Given the description of an element on the screen output the (x, y) to click on. 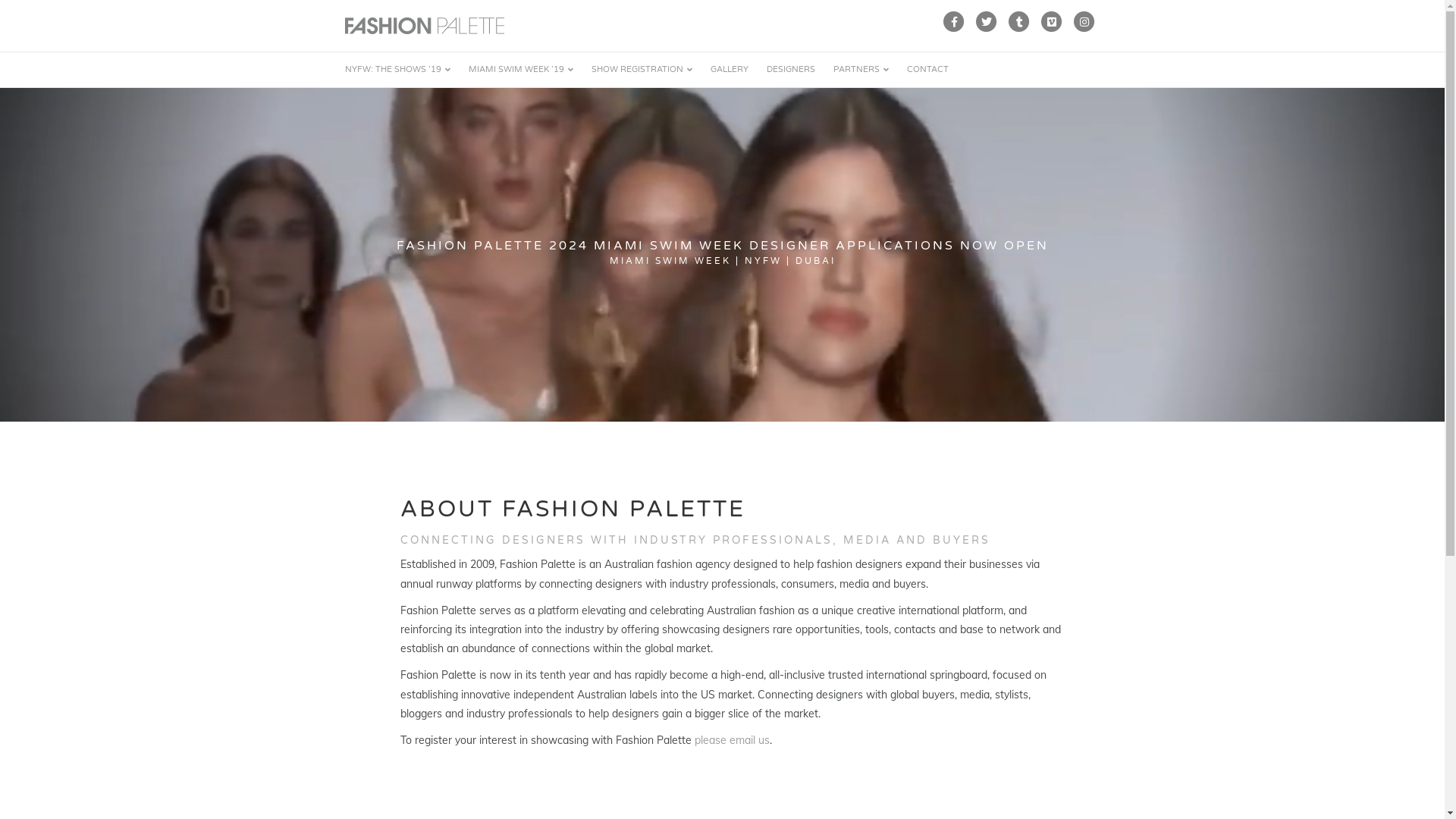
SHOW REGISTRATION Element type: text (641, 69)
Facebook Element type: text (953, 21)
GALLERY Element type: text (728, 69)
Tumblr Element type: text (1018, 21)
CONTACT Element type: text (927, 69)
DESIGNERS Element type: text (789, 69)
Instagram Element type: text (1083, 21)
Twitter Element type: text (986, 21)
please email us Element type: text (731, 739)
Vimeo Element type: text (1051, 21)
PARTNERS Element type: text (860, 69)
